Given the description of an element on the screen output the (x, y) to click on. 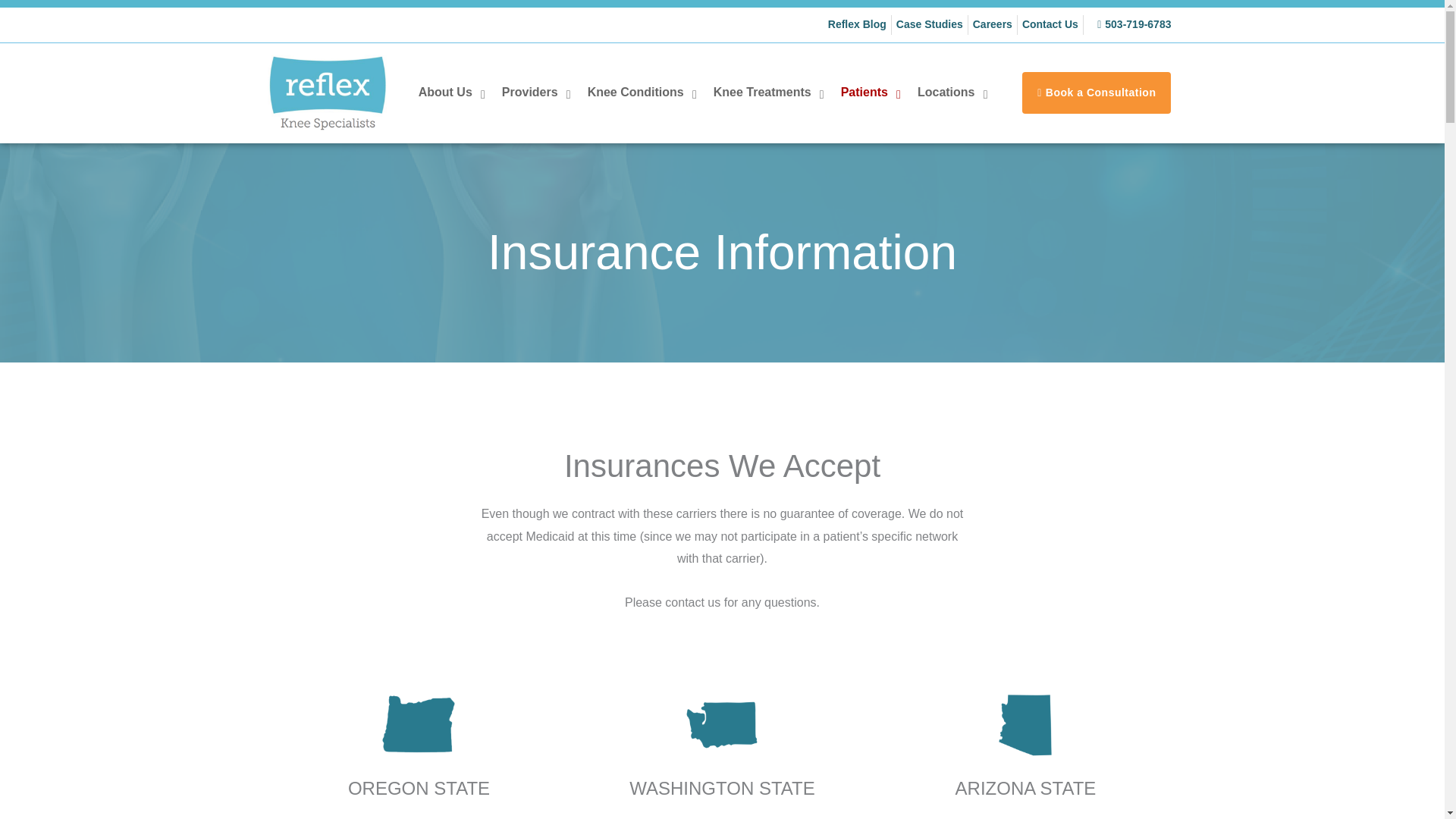
Case Studies (929, 25)
Providers (535, 92)
Contact Us (1050, 25)
Reflex Blog (857, 25)
About Us (451, 92)
Knee Conditions (641, 92)
503-719-6783 (1129, 25)
Knee Treatments (767, 92)
Careers (991, 25)
